Given the description of an element on the screen output the (x, y) to click on. 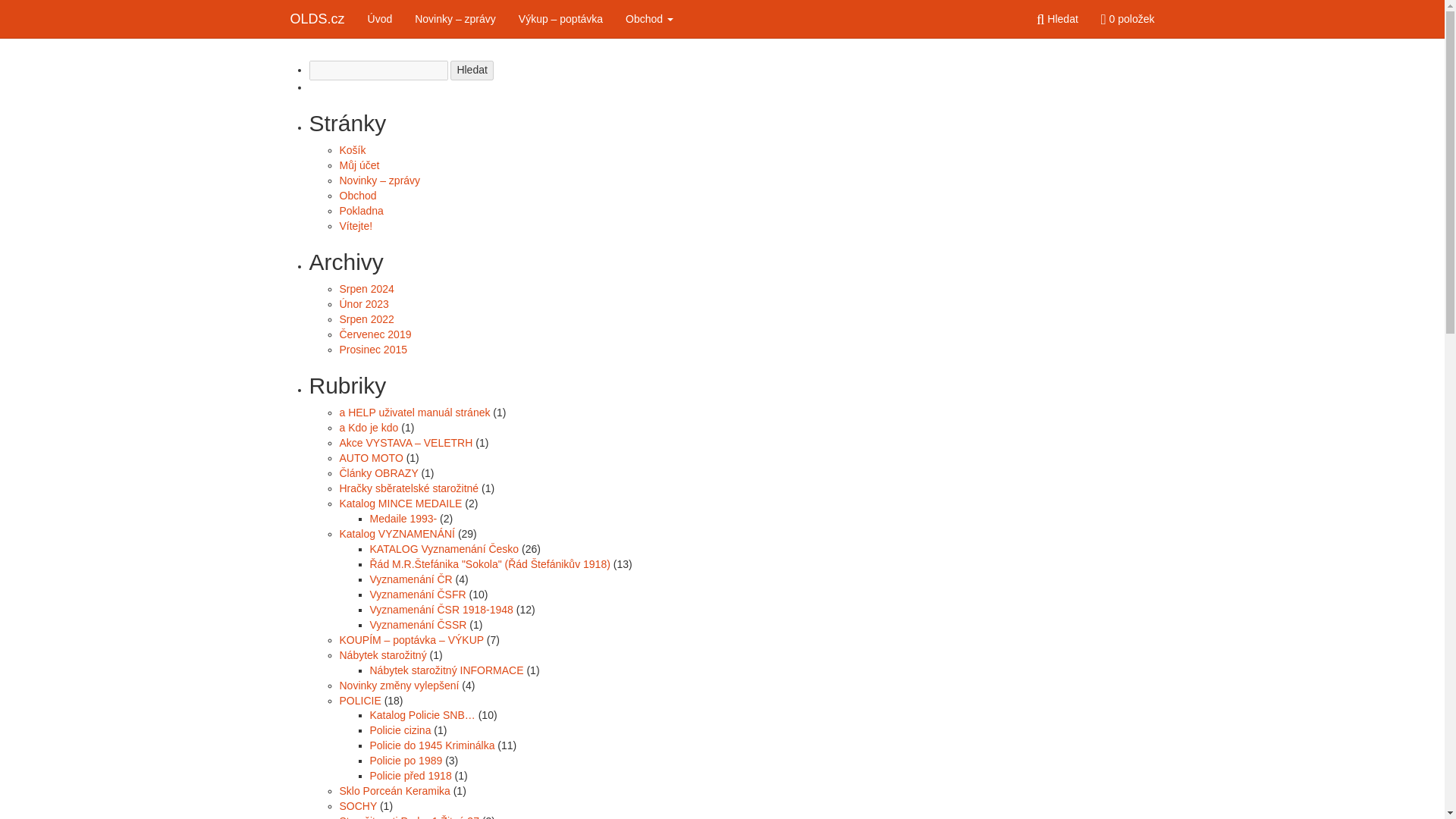
Pokladna (361, 210)
Obchod (358, 195)
Hledat (471, 70)
Hledat (1057, 18)
Hledat (471, 70)
Obchod (649, 18)
Prosinec 2015 (373, 349)
Obchod (649, 18)
Katalog MINCE MEDAILE (401, 503)
Srpen 2024 (366, 288)
